Given the description of an element on the screen output the (x, y) to click on. 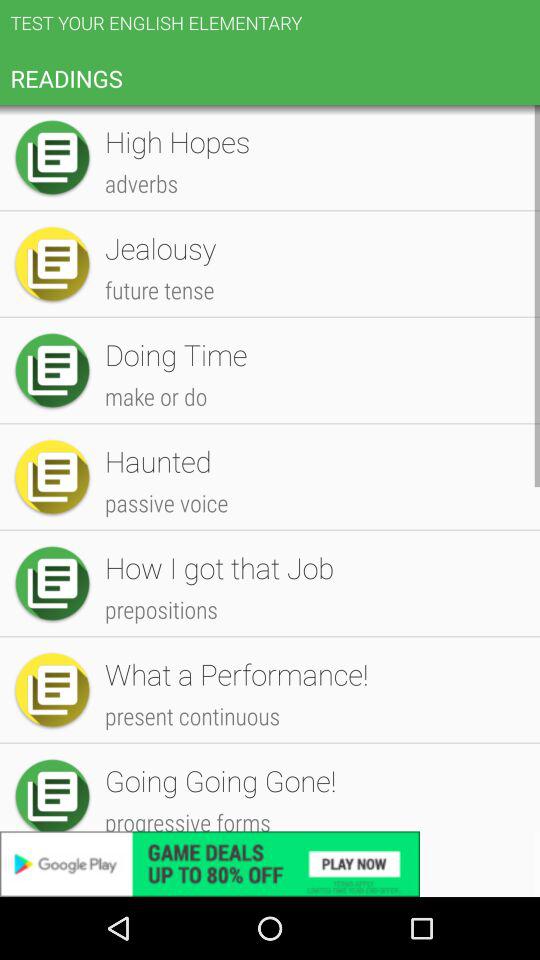
jump until the help (311, 865)
